Given the description of an element on the screen output the (x, y) to click on. 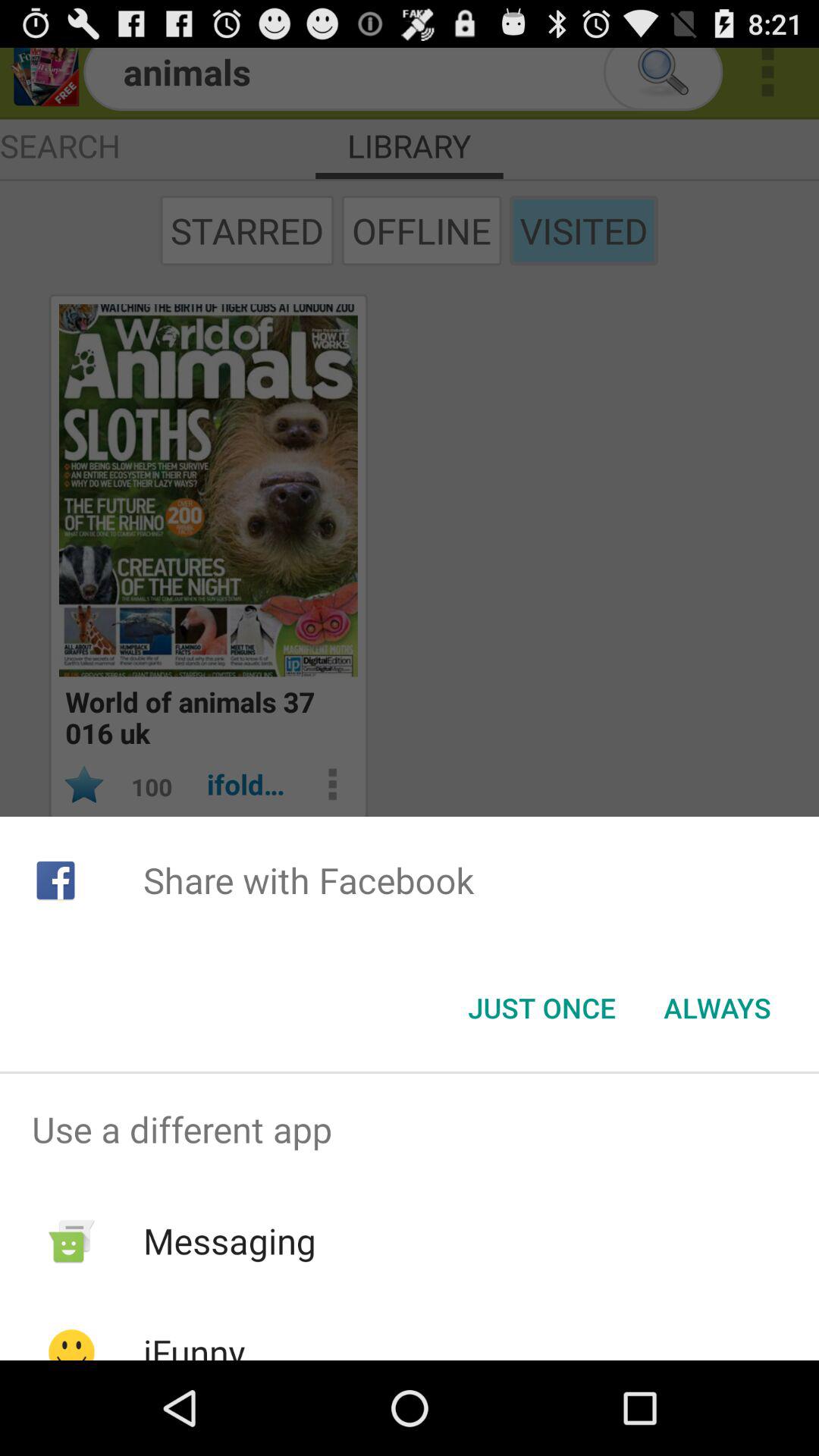
flip until just once (541, 1007)
